Given the description of an element on the screen output the (x, y) to click on. 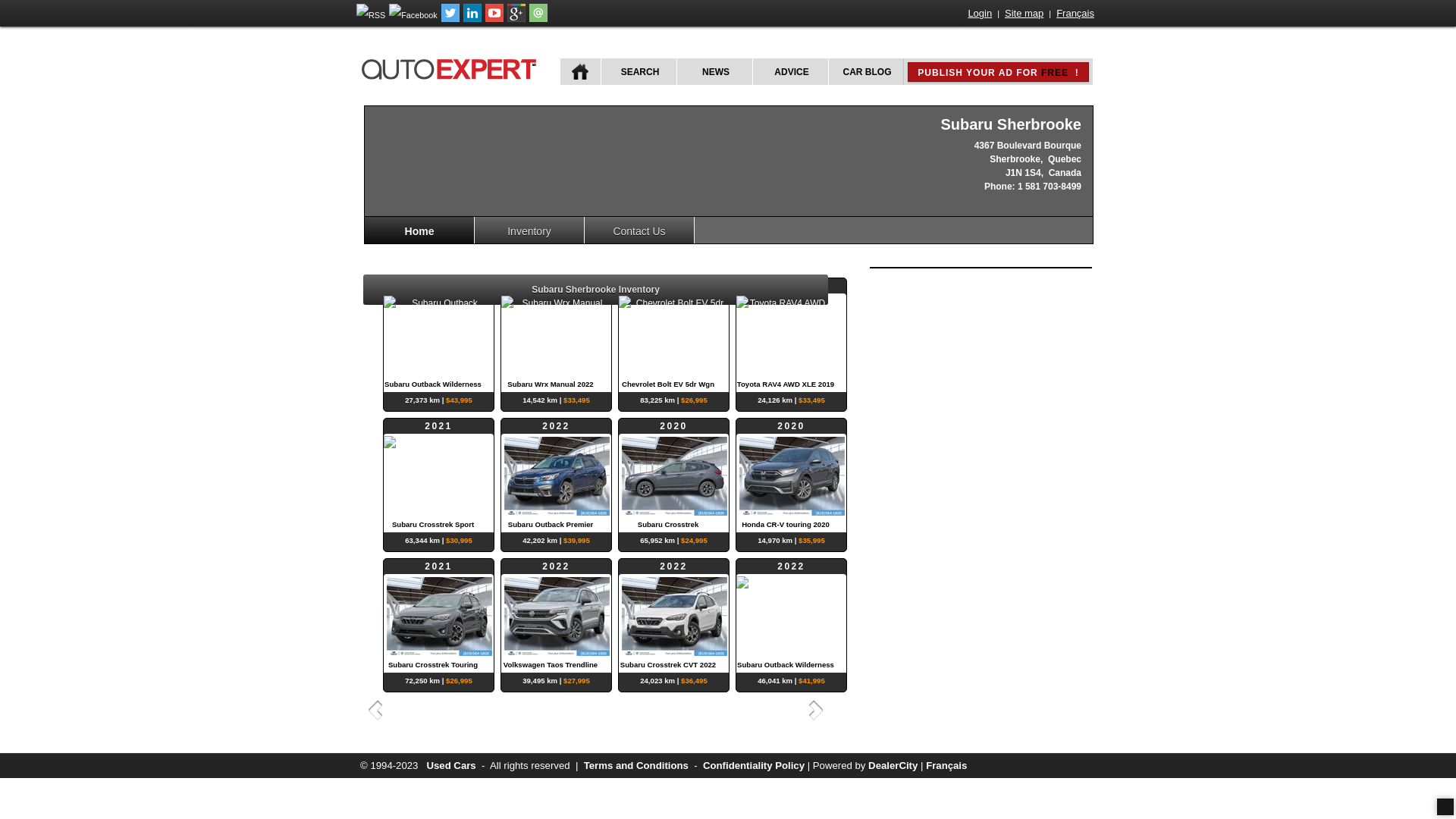
2023
Subaru Outback Wilderness CVT 2023
27,373 km | $43,995 Element type: text (438, 335)
2022
Subaru Crosstrek CVT 2022
24,023 km | $36,495 Element type: text (673, 615)
Previous Element type: hover (373, 709)
Follow autoExpert.ca on Google Plus Element type: hover (516, 18)
2019
Toyota RAV4 AWD XLE 2019
24,126 km | $33,495 Element type: text (791, 335)
Confidentiality Policy Element type: text (753, 765)
Follow Publications Le Guide Inc. on LinkedIn Element type: hover (472, 18)
CAR BLOG Element type: text (865, 71)
ADVICE Element type: text (790, 71)
2021
Subaru Crosstrek Touring CVT 2021
72,250 km | $26,995 Element type: text (438, 615)
Used Cars Element type: text (450, 765)
Terms and Conditions Element type: text (635, 765)
2020
Honda CR-V touring 2020
14,970 km | $35,995 Element type: text (791, 475)
Contact Us Element type: text (639, 229)
Follow autoExpert.ca on Youtube Element type: hover (494, 18)
2022
Subaru Outback Wilderness CVT 2022
46,041 km | $41,995 Element type: text (791, 615)
2021
Subaru Crosstrek Sport CVT 2021
63,344 km | $30,995 Element type: text (438, 475)
Contact autoExpert.ca Element type: hover (538, 18)
autoExpert.ca Element type: text (451, 66)
PUBLISH YOUR AD FOR FREE  ! Element type: text (997, 71)
Follow autoExpert.ca on Twitter Element type: hover (450, 18)
Follow car news on autoExpert.ca Element type: hover (370, 14)
Home Element type: text (419, 229)
SEARCH Element type: text (638, 71)
DealerCity Element type: text (892, 765)
Next Element type: hover (818, 709)
Follow autoExpert.ca on Facebook Element type: hover (412, 14)
Site map Element type: text (1023, 13)
Inventory Element type: text (529, 229)
2022
Subaru Outback Premier 2022
42,202 km | $39,995 Element type: text (556, 475)
Login Element type: text (979, 13)
NEWS Element type: text (714, 71)
HOME Element type: text (580, 71)
2022
Subaru Wrx Manual 2022
14,542 km | $33,495 Element type: text (556, 335)
